Given the description of an element on the screen output the (x, y) to click on. 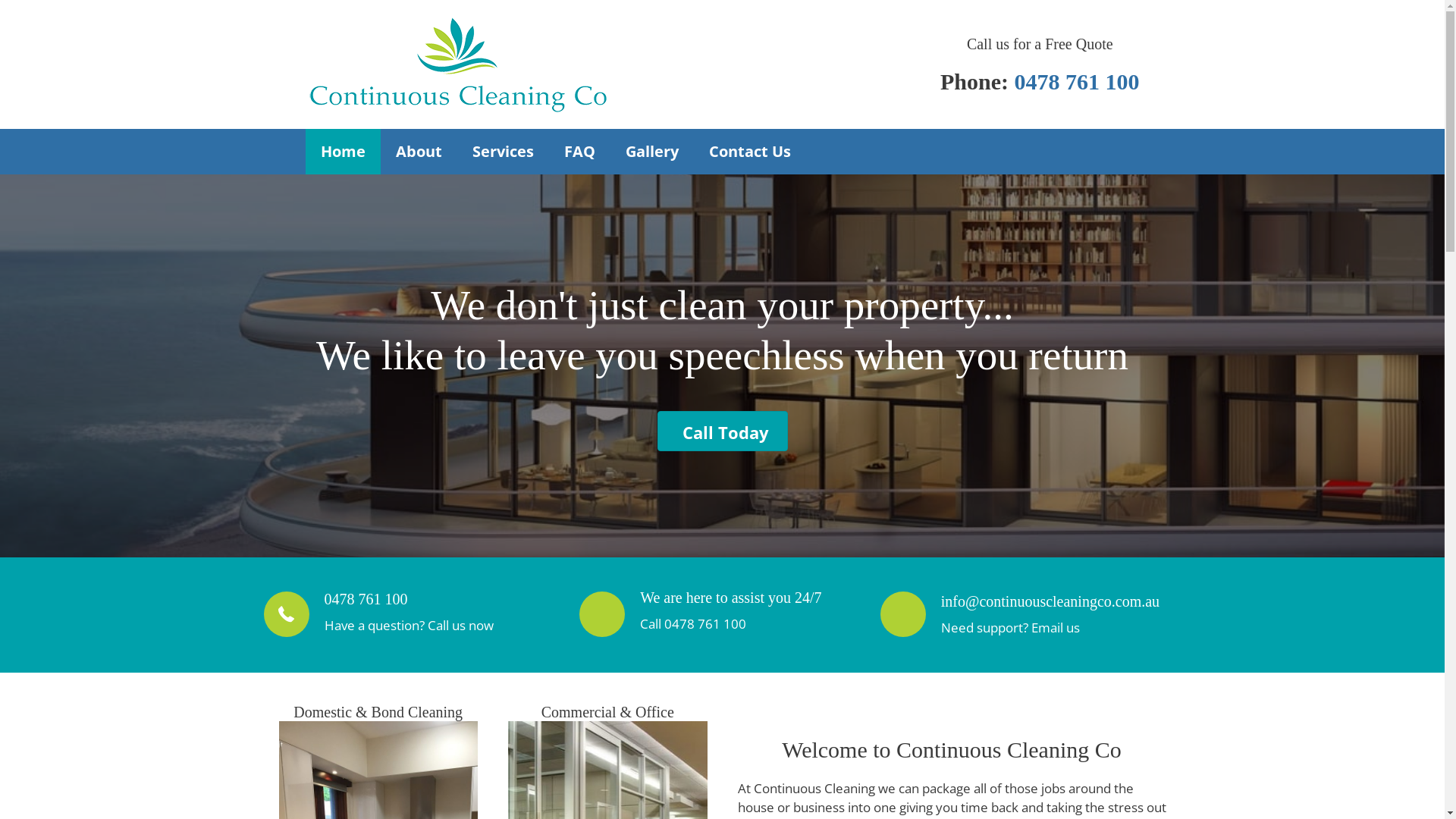
0478 761 100 Element type: text (365, 598)
Home Element type: text (341, 151)
0478 761 100 Element type: text (1076, 80)
Gallery Element type: text (651, 151)
Call Today Element type: text (721, 431)
info@continuouscleaningco.com.au Element type: text (1050, 601)
Contact Us Element type: text (749, 151)
FAQ Element type: text (579, 151)
Skip to content Element type: text (0, 0)
Continuous Cleaning Element type: hover (456, 64)
Continuous Cleaning Element type: hover (456, 63)
0478 761 100 Element type: text (705, 623)
Services Element type: text (502, 151)
About Element type: text (418, 151)
